Given the description of an element on the screen output the (x, y) to click on. 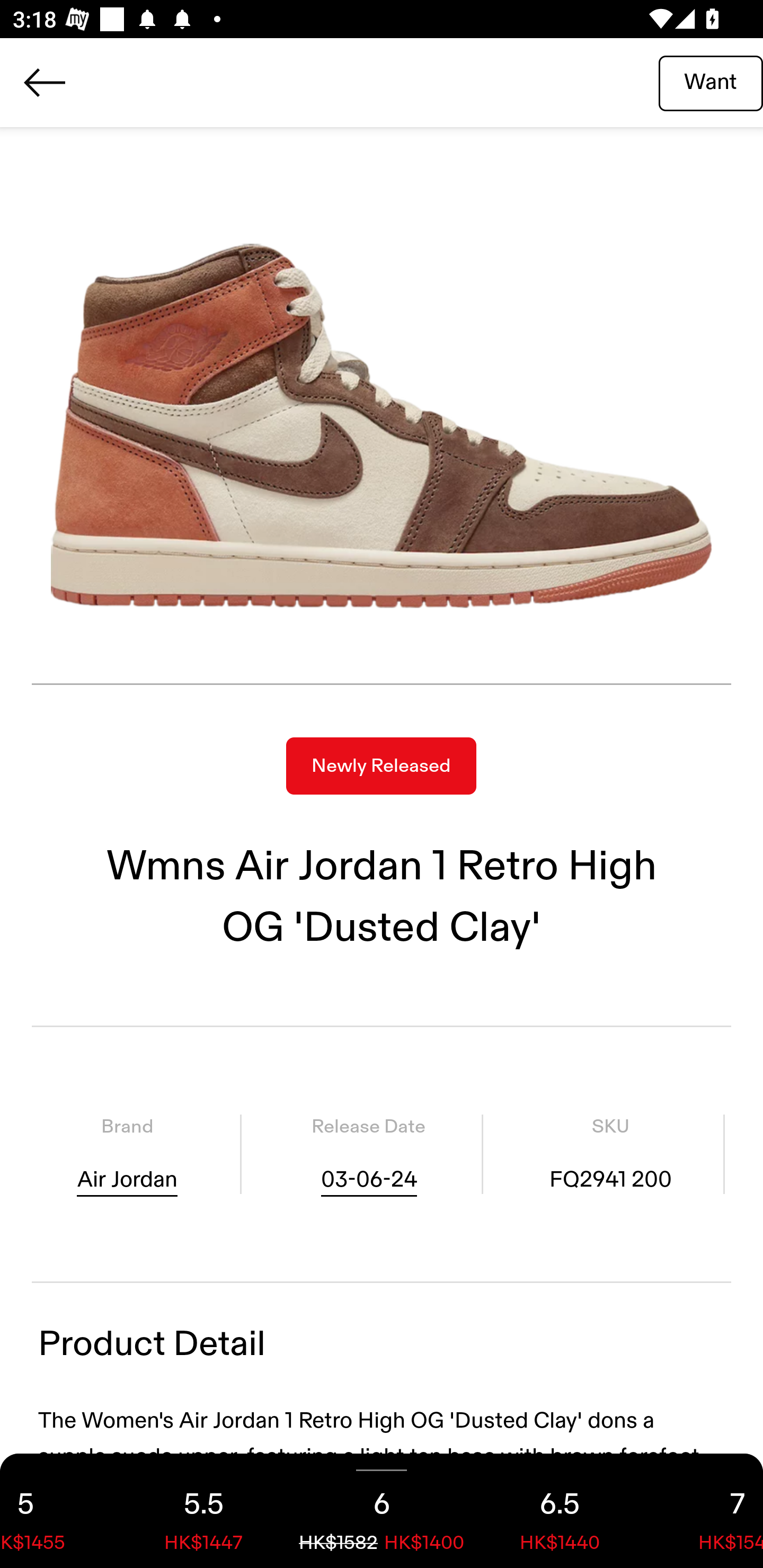
Want (710, 82)
Newly Released (381, 765)
Brand Air Jordan (126, 1153)
Release Date 03-06-24 (368, 1153)
SKU FQ2941 200 (609, 1153)
5 HK$1455 (57, 1510)
5.5 HK$1447 (203, 1510)
6 HK$1582 HK$1400 (381, 1510)
6.5 HK$1440 (559, 1510)
7 HK$1542 (705, 1510)
